Given the description of an element on the screen output the (x, y) to click on. 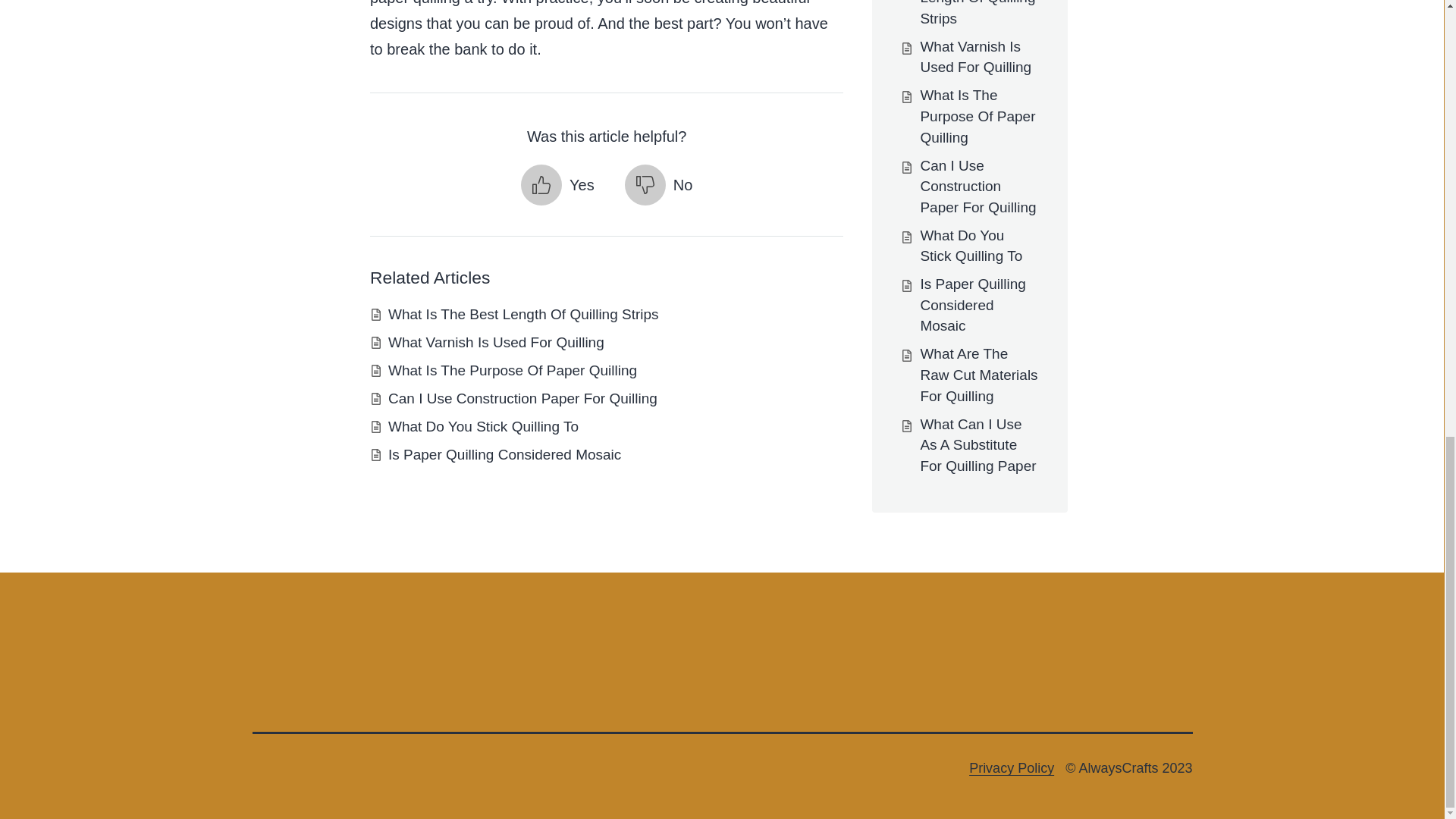
What Do You Stick Quilling To (483, 426)
No (658, 184)
Yes (557, 184)
Is Paper Quilling Considered Mosaic (504, 454)
Can I Use Construction Paper For Quilling (523, 398)
What Is The Purpose Of Paper Quilling (512, 370)
What Varnish Is Used For Quilling (496, 342)
What Is The Best Length Of Quilling Strips (523, 314)
Privacy Policy (1011, 767)
